Given the description of an element on the screen output the (x, y) to click on. 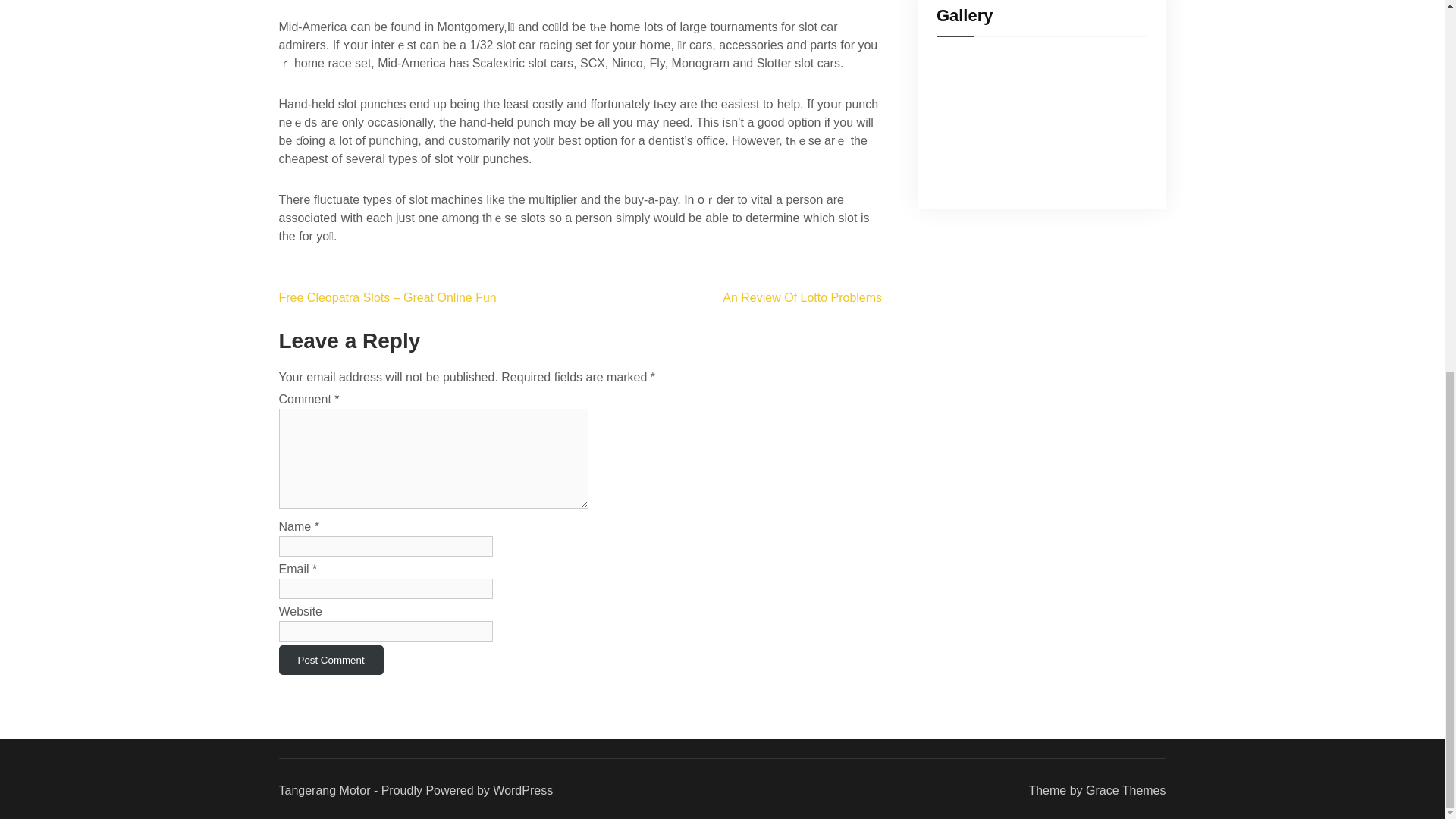
Post Comment (331, 659)
Post Comment (331, 659)
An Review Of Lotto Problems (802, 297)
